Given the description of an element on the screen output the (x, y) to click on. 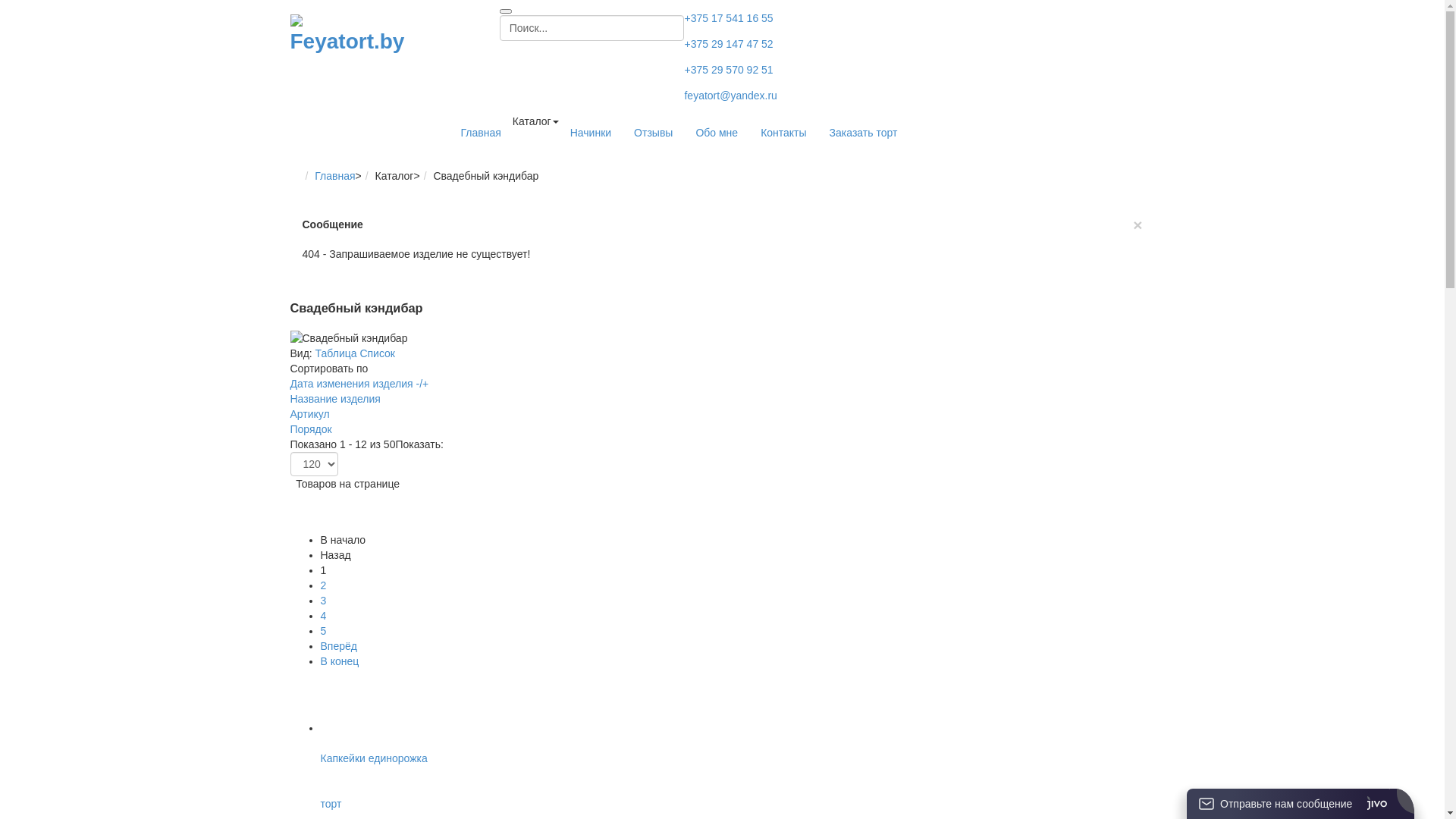
4 Element type: text (323, 615)
Feyatort.by Element type: hover (351, 35)
5 Element type: text (323, 630)
3 Element type: text (323, 600)
feyatort@yandex.ru Element type: text (730, 95)
+375 17 541 16 55 Element type: text (728, 18)
+375 29 147 47 52 Element type: text (728, 43)
+375 29 570 92 51 Element type: text (728, 69)
2 Element type: text (323, 585)
